Given the description of an element on the screen output the (x, y) to click on. 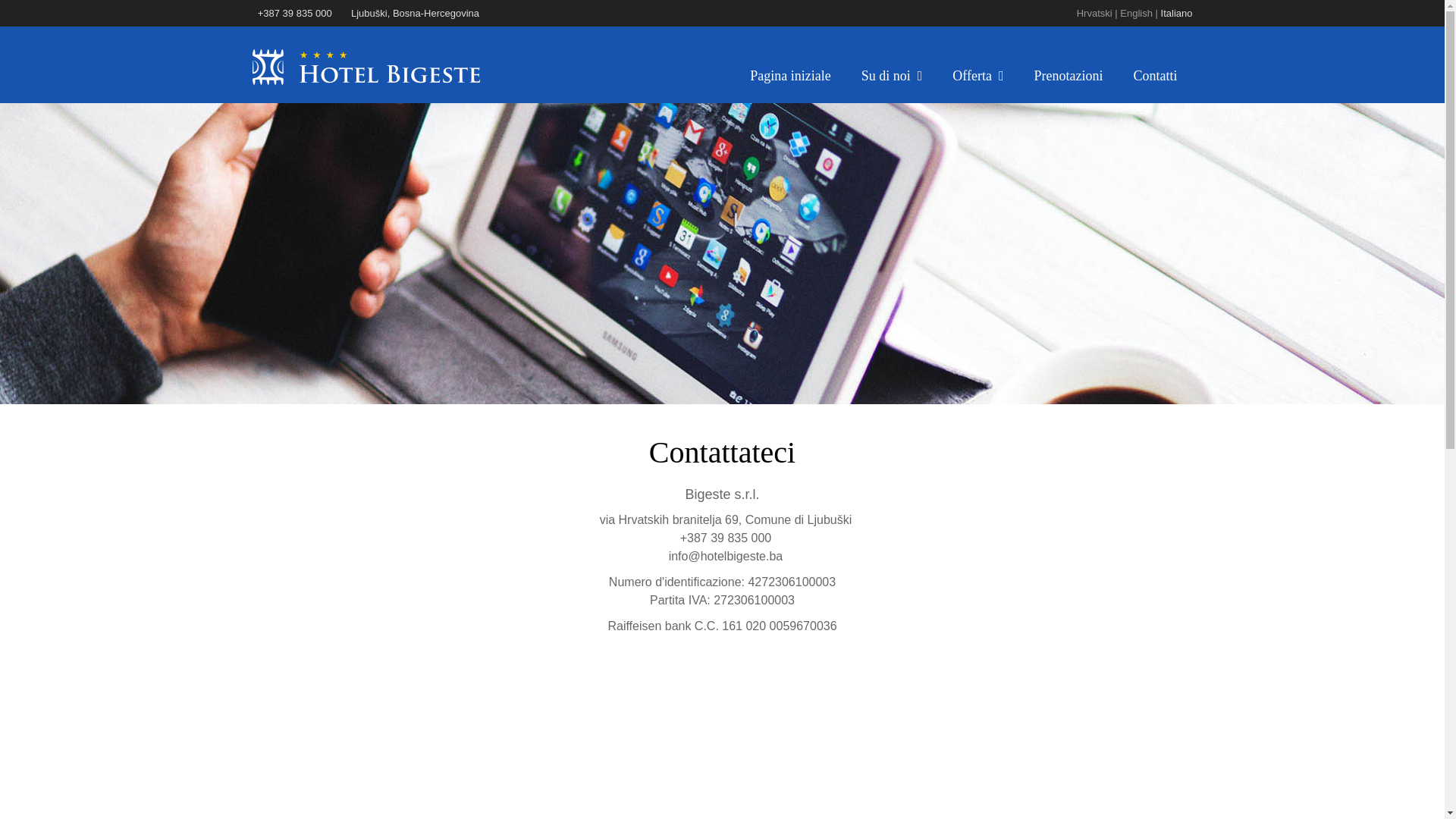
Hrvatski Element type: text (1094, 12)
English Element type: text (1136, 12)
Italiano Element type: text (1176, 12)
Su di noi Element type: text (892, 76)
Offerta Element type: text (977, 76)
Prenotazioni Element type: text (1068, 76)
Pagina iniziale Element type: text (789, 76)
Contatti Element type: text (1154, 76)
